Given the description of an element on the screen output the (x, y) to click on. 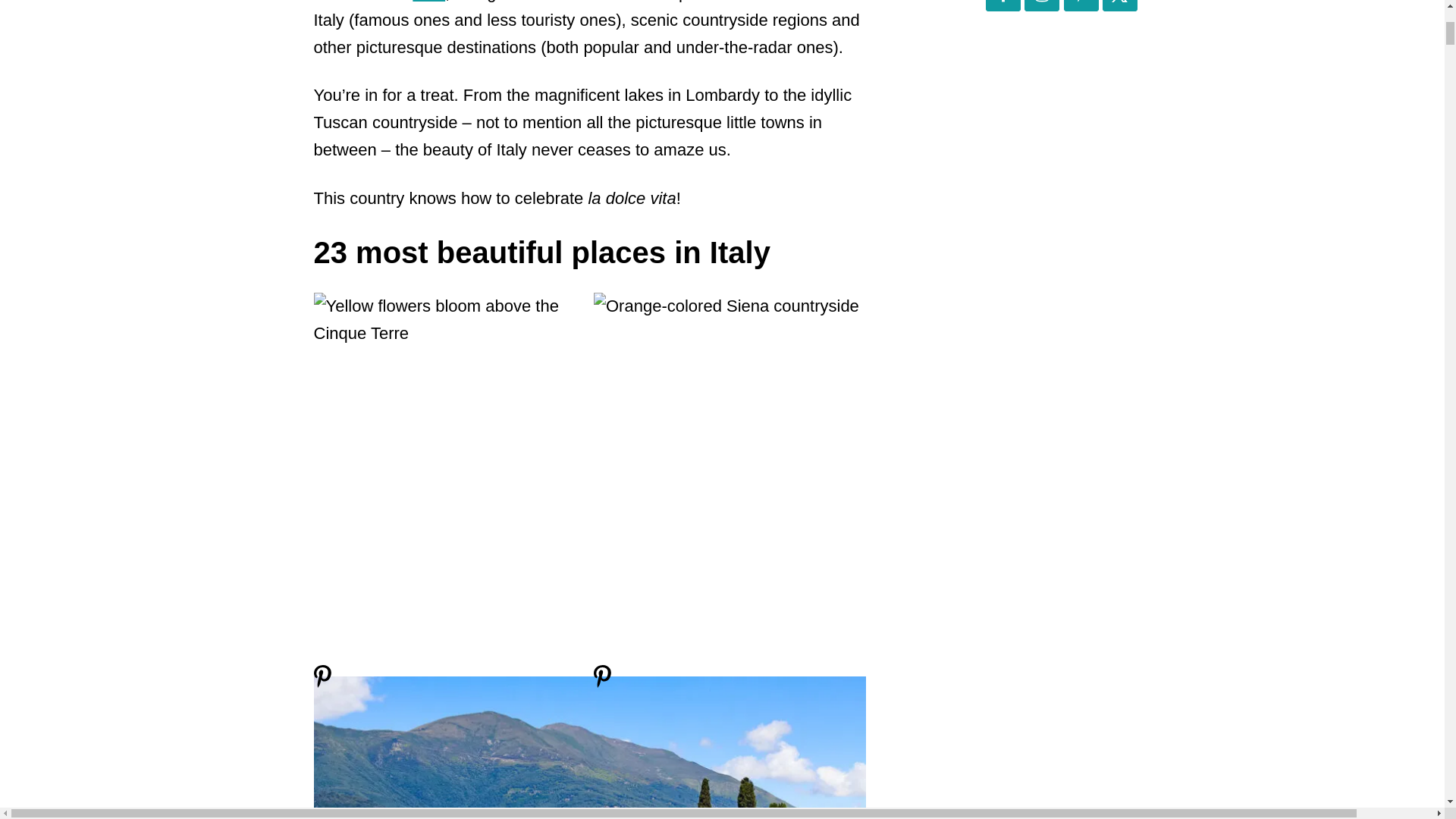
Save (602, 683)
Save (322, 683)
